Given the description of an element on the screen output the (x, y) to click on. 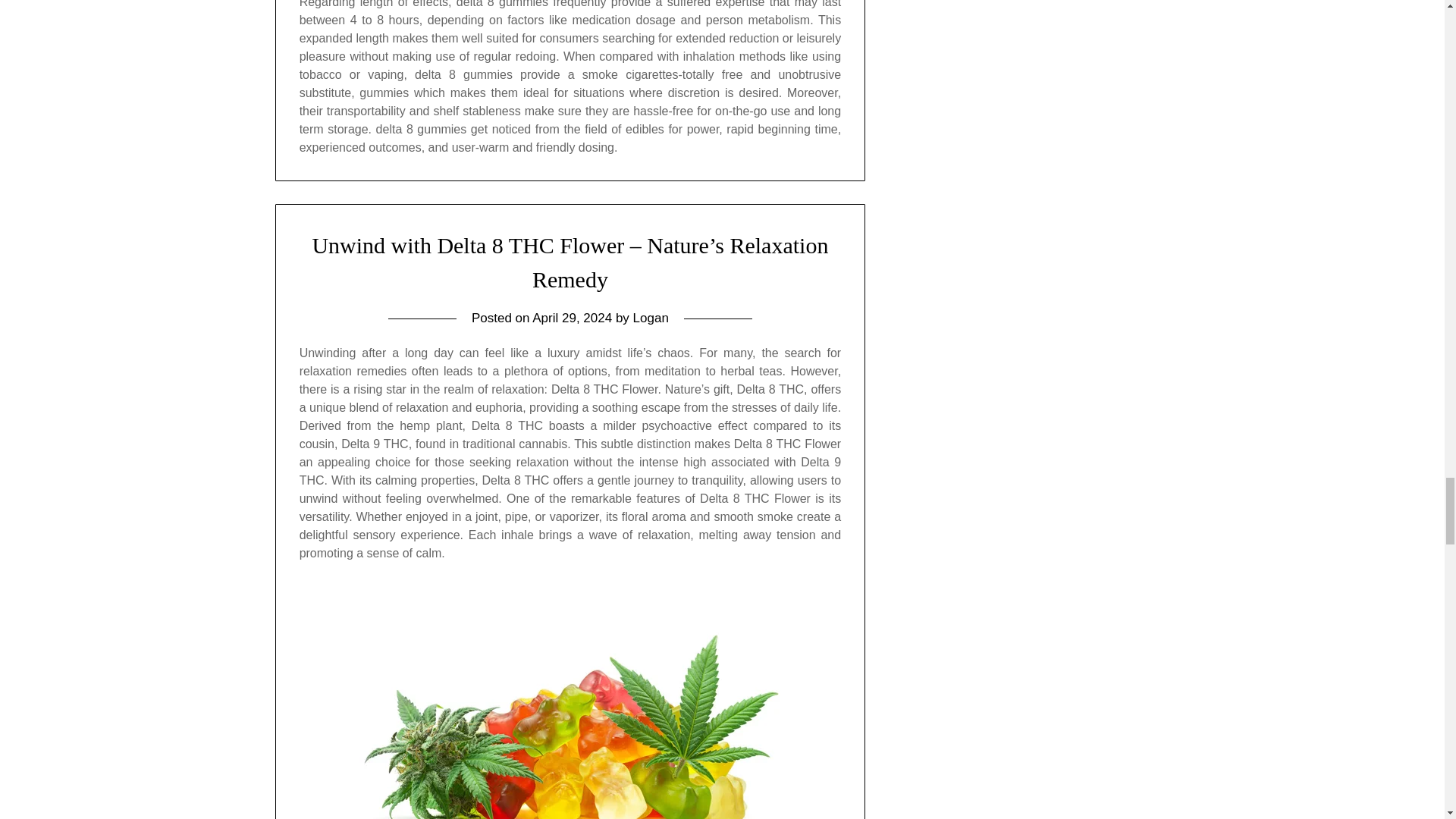
Logan (650, 318)
April 29, 2024 (571, 318)
